Given the description of an element on the screen output the (x, y) to click on. 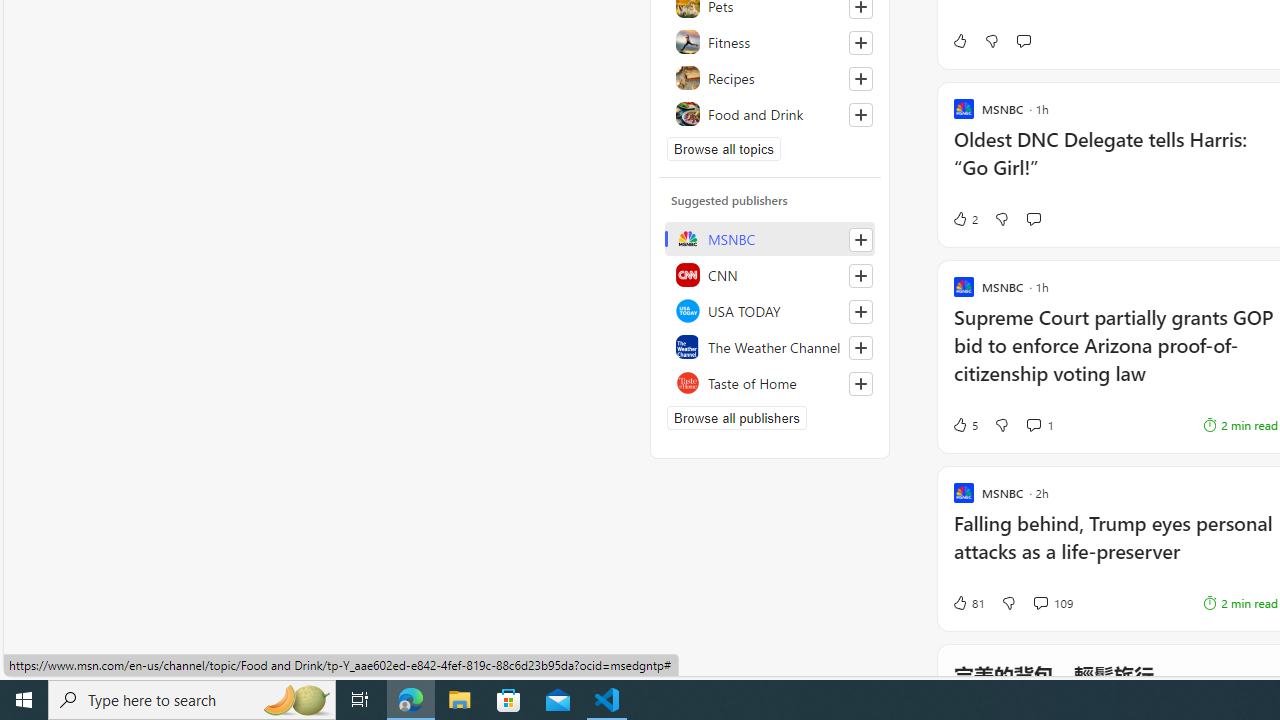
Browse all publishers (736, 417)
5 Like (964, 425)
Fitness (770, 42)
Recipes (770, 78)
81 Like (968, 602)
Follow this source (860, 384)
CNN (770, 274)
Follow this topic (860, 114)
Food and Drink (770, 114)
The Weather Channel (770, 346)
